Given the description of an element on the screen output the (x, y) to click on. 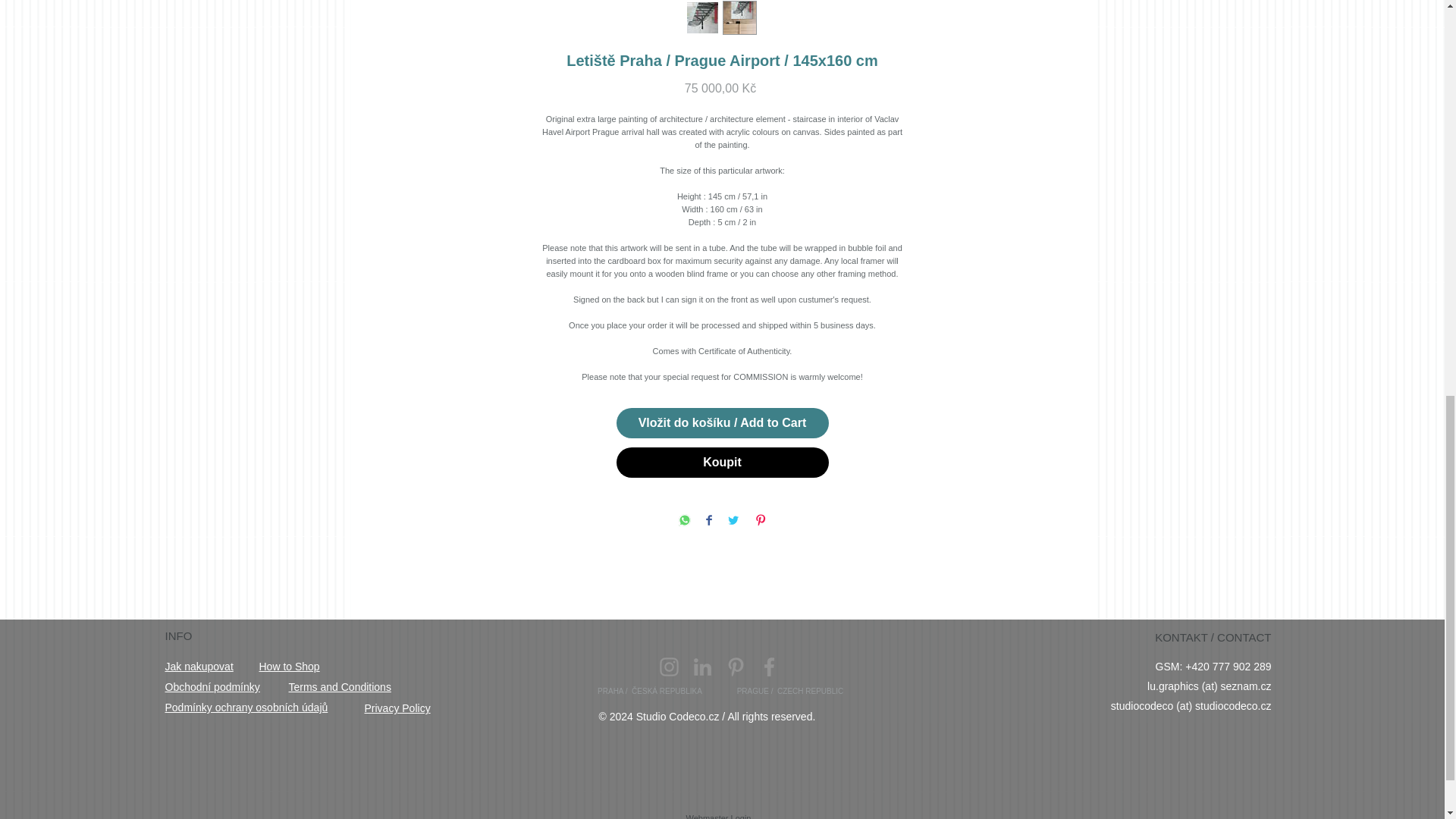
Privacy Policy (396, 707)
Jak nakupovat (198, 666)
Koupit (721, 462)
How to Shop (289, 666)
Webmaster Login (718, 815)
Terms and Conditions (339, 686)
